Given the description of an element on the screen output the (x, y) to click on. 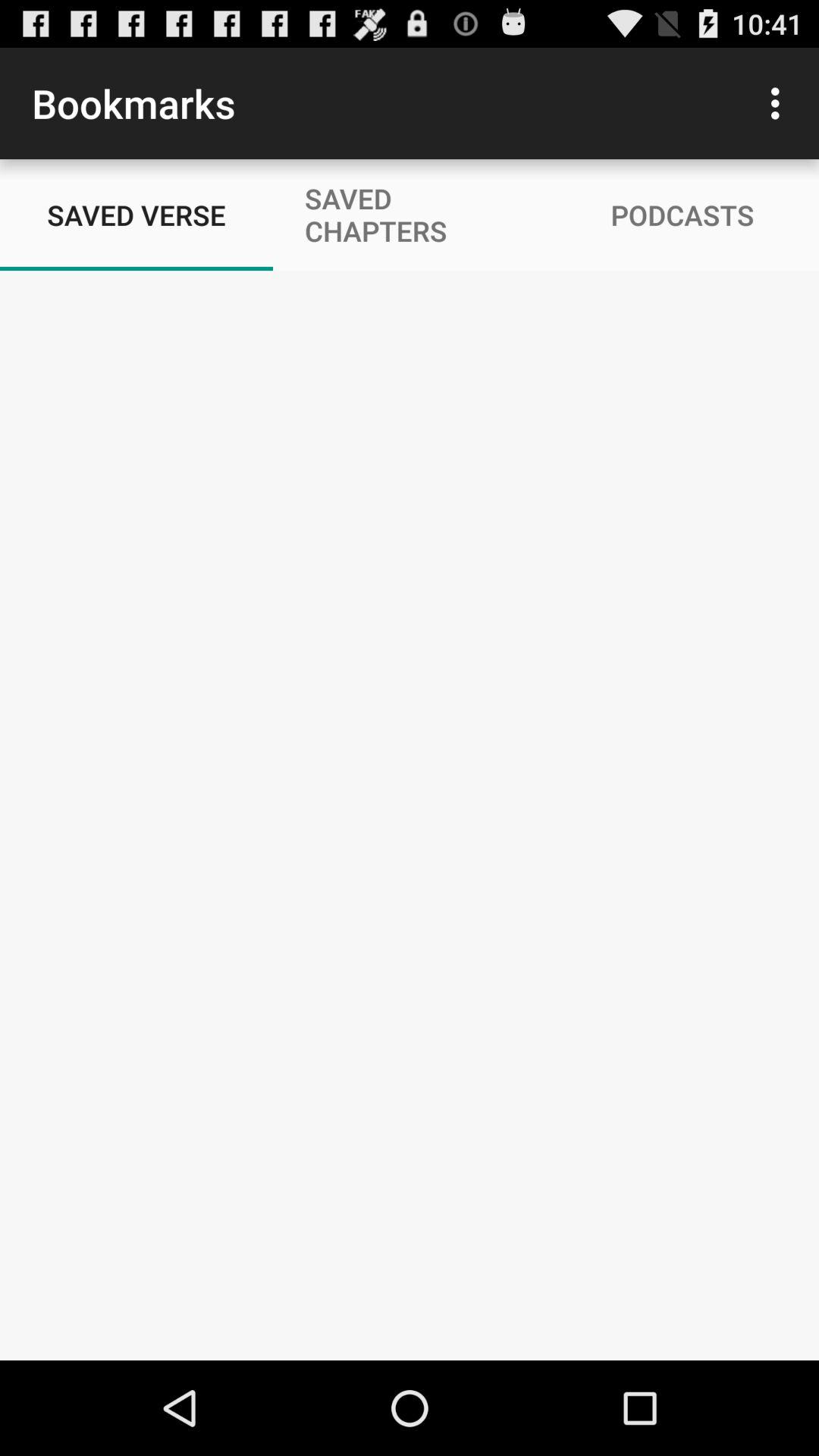
click icon next to saved chapters (779, 103)
